Given the description of an element on the screen output the (x, y) to click on. 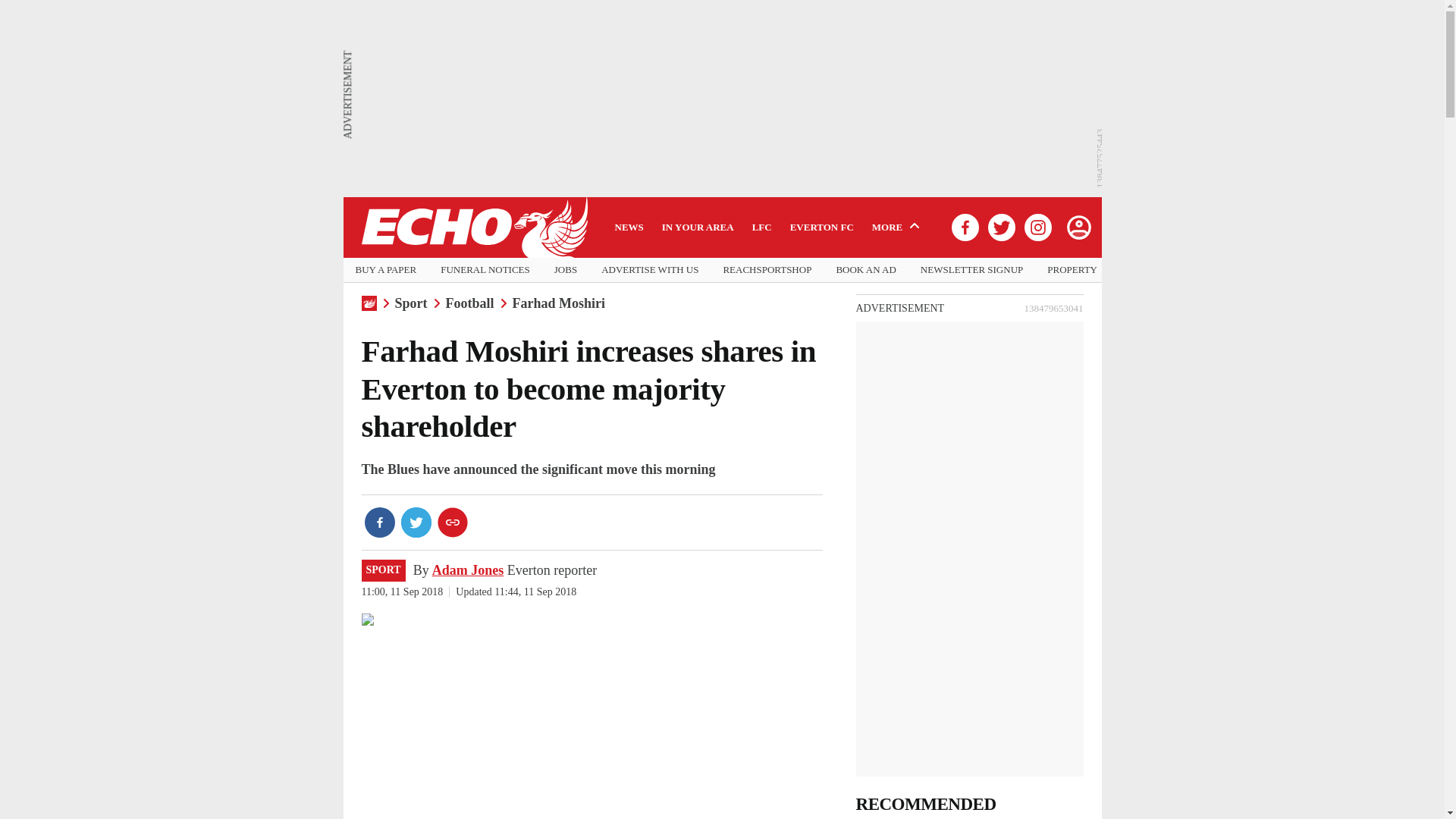
BUY A PAPER (385, 270)
REACHSPORTSHOP (766, 270)
Go to the Liverpool Echo homepage (473, 227)
Sport (410, 303)
3rd party ad content (969, 416)
FUNERAL NOTICES (485, 270)
Football (470, 303)
Farhad Moshiri (558, 303)
JOBS (565, 270)
NEWS (628, 227)
PROPERTY (1071, 270)
ADVERTISE WITH US (649, 270)
NEWSLETTER SIGNUP (971, 270)
avatar (1077, 227)
